Given the description of an element on the screen output the (x, y) to click on. 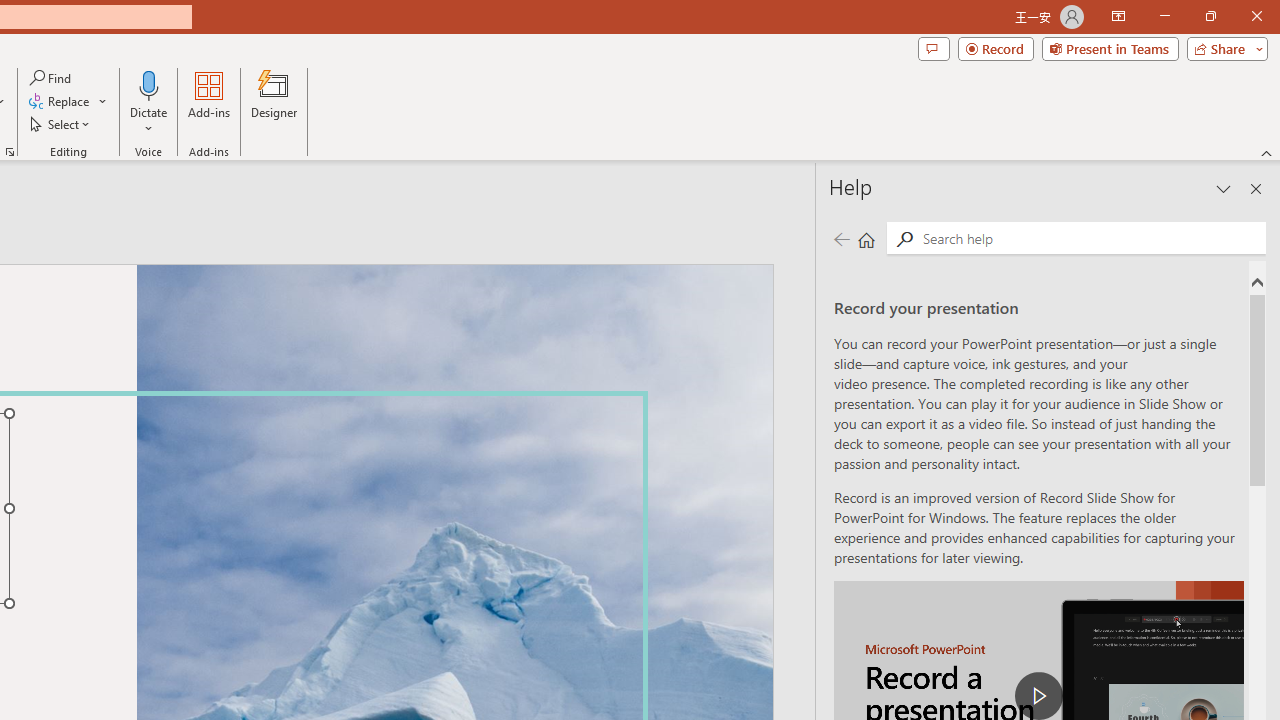
play Record a Presentation (1038, 695)
Previous page (841, 238)
